Given the description of an element on the screen output the (x, y) to click on. 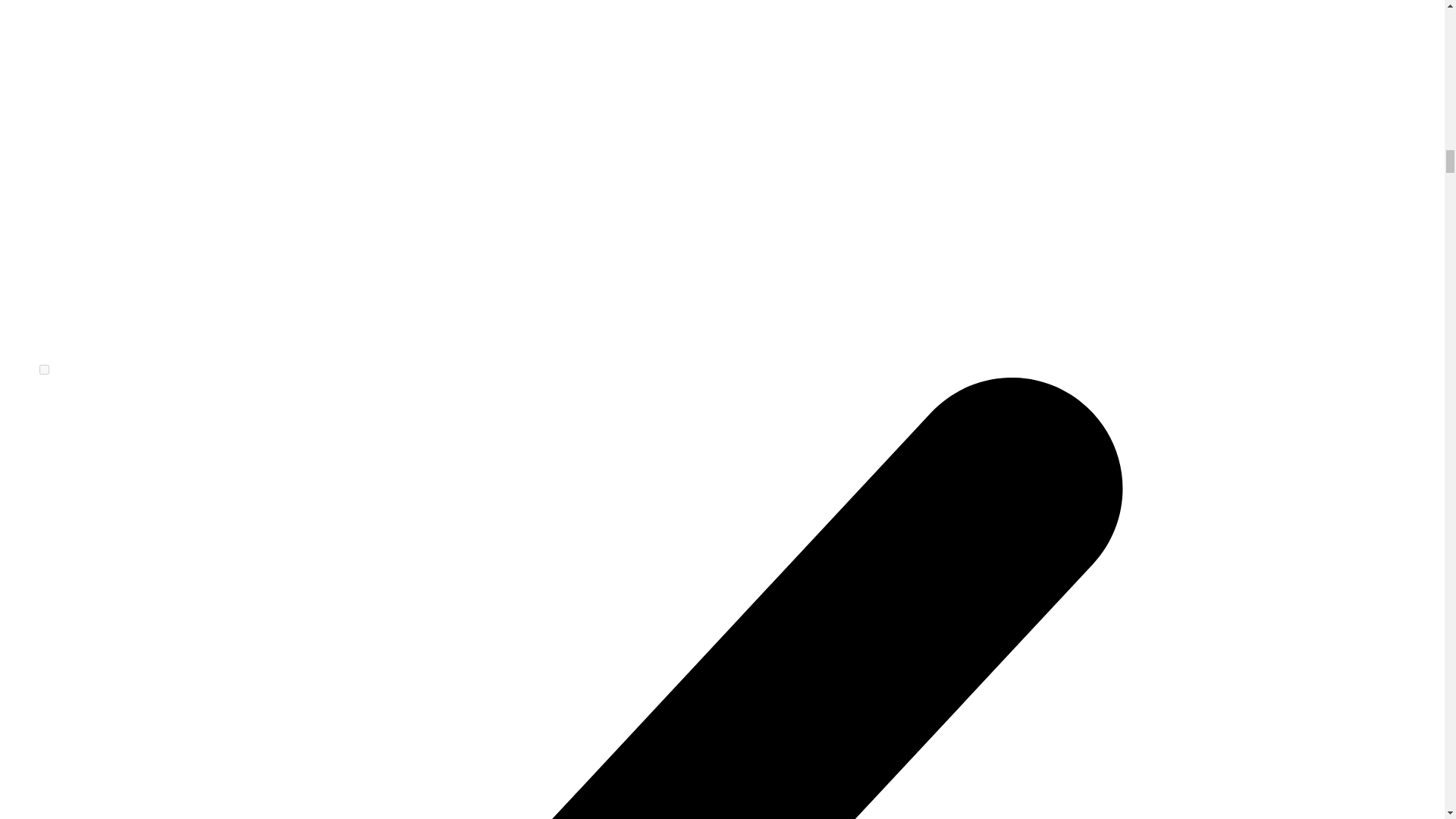
on (44, 369)
